Given the description of an element on the screen output the (x, y) to click on. 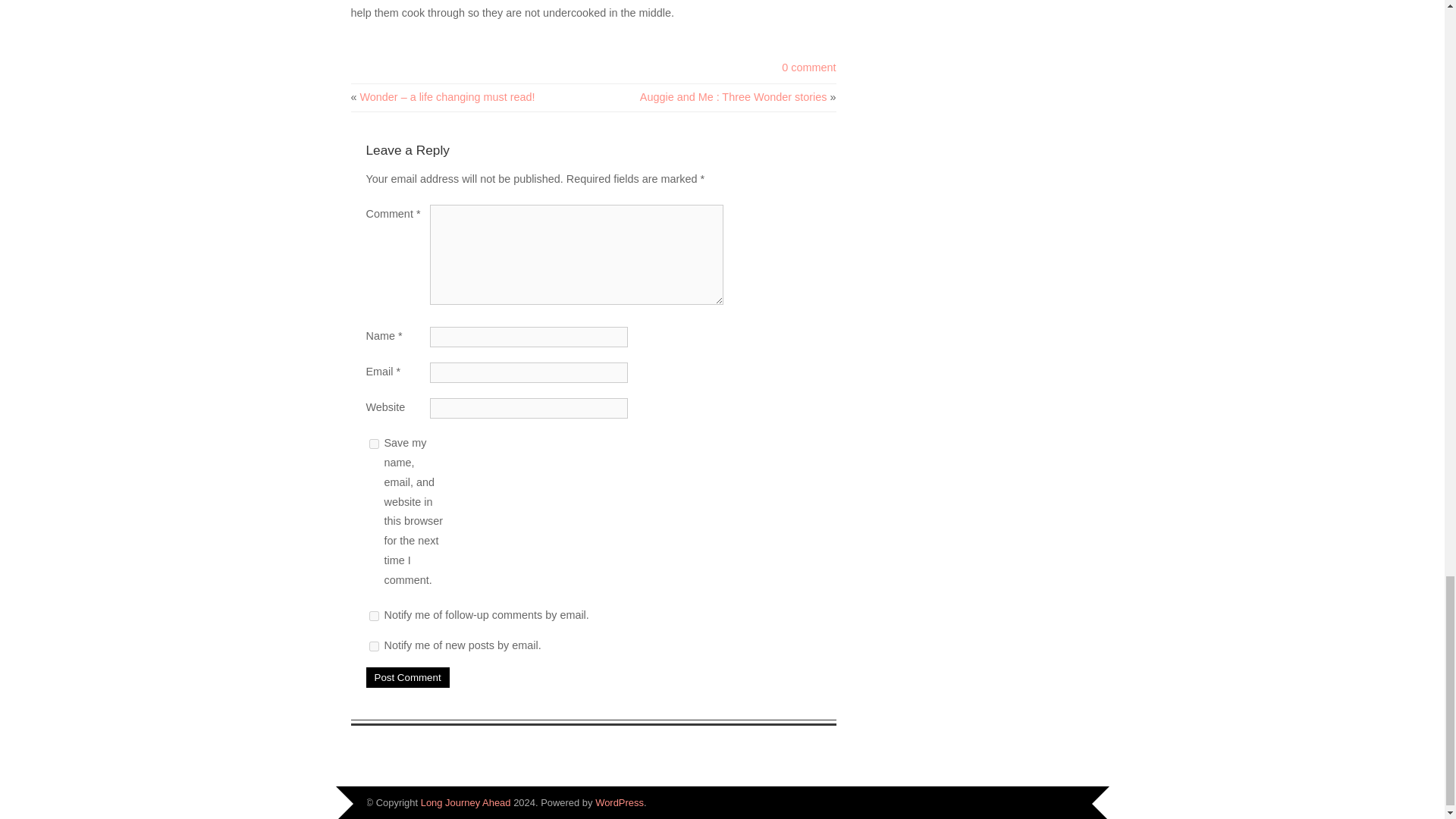
yes (373, 443)
Post Comment (406, 677)
Theme designed by BluChic (1057, 801)
subscribe (373, 646)
Auggie and Me : Three Wonder stories (733, 96)
0 comment (808, 67)
subscribe (373, 615)
Post Comment (406, 677)
